Given the description of an element on the screen output the (x, y) to click on. 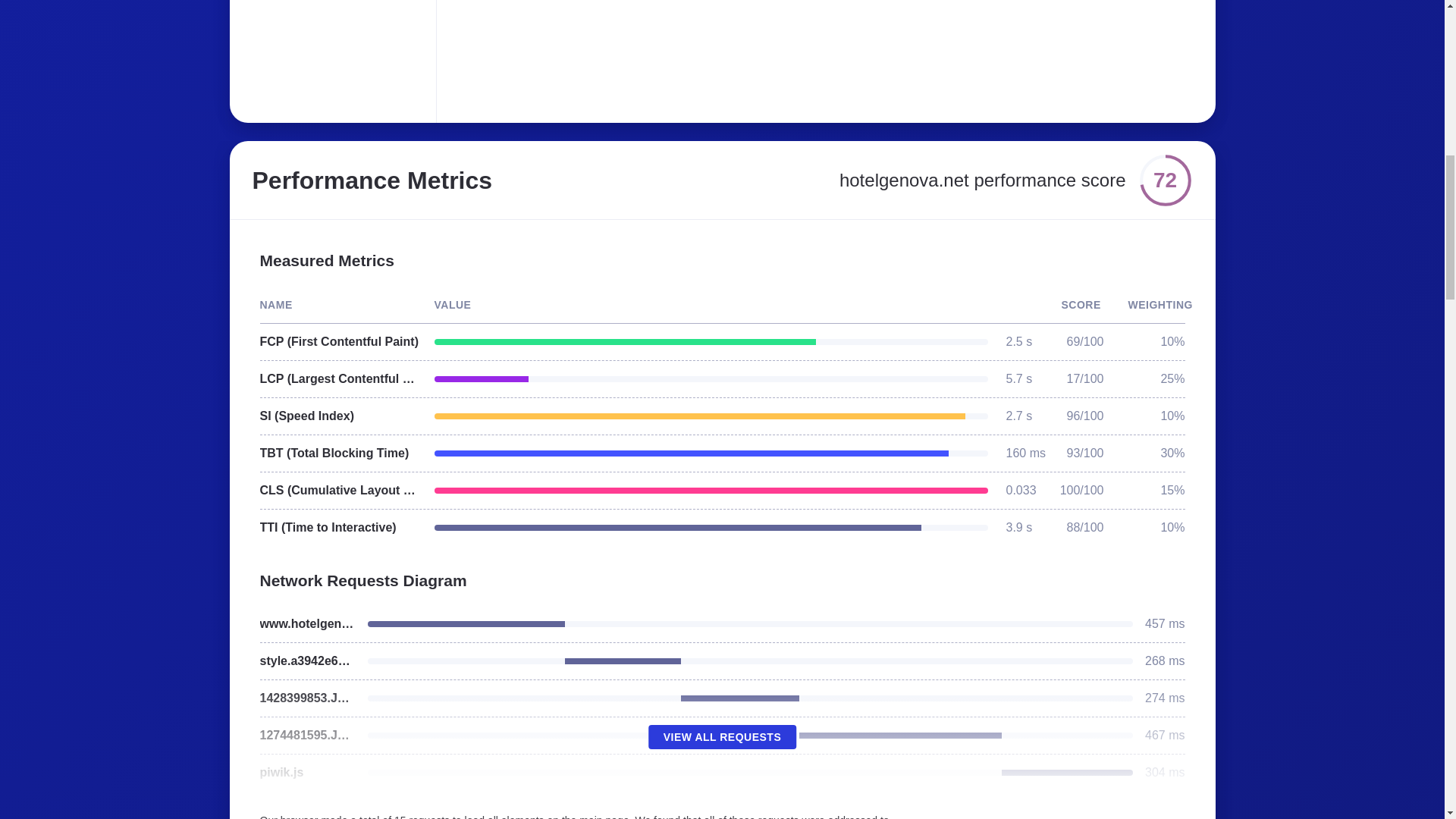
VIEW ALL REQUESTS (721, 736)
Advertisement (686, 52)
